Given the description of an element on the screen output the (x, y) to click on. 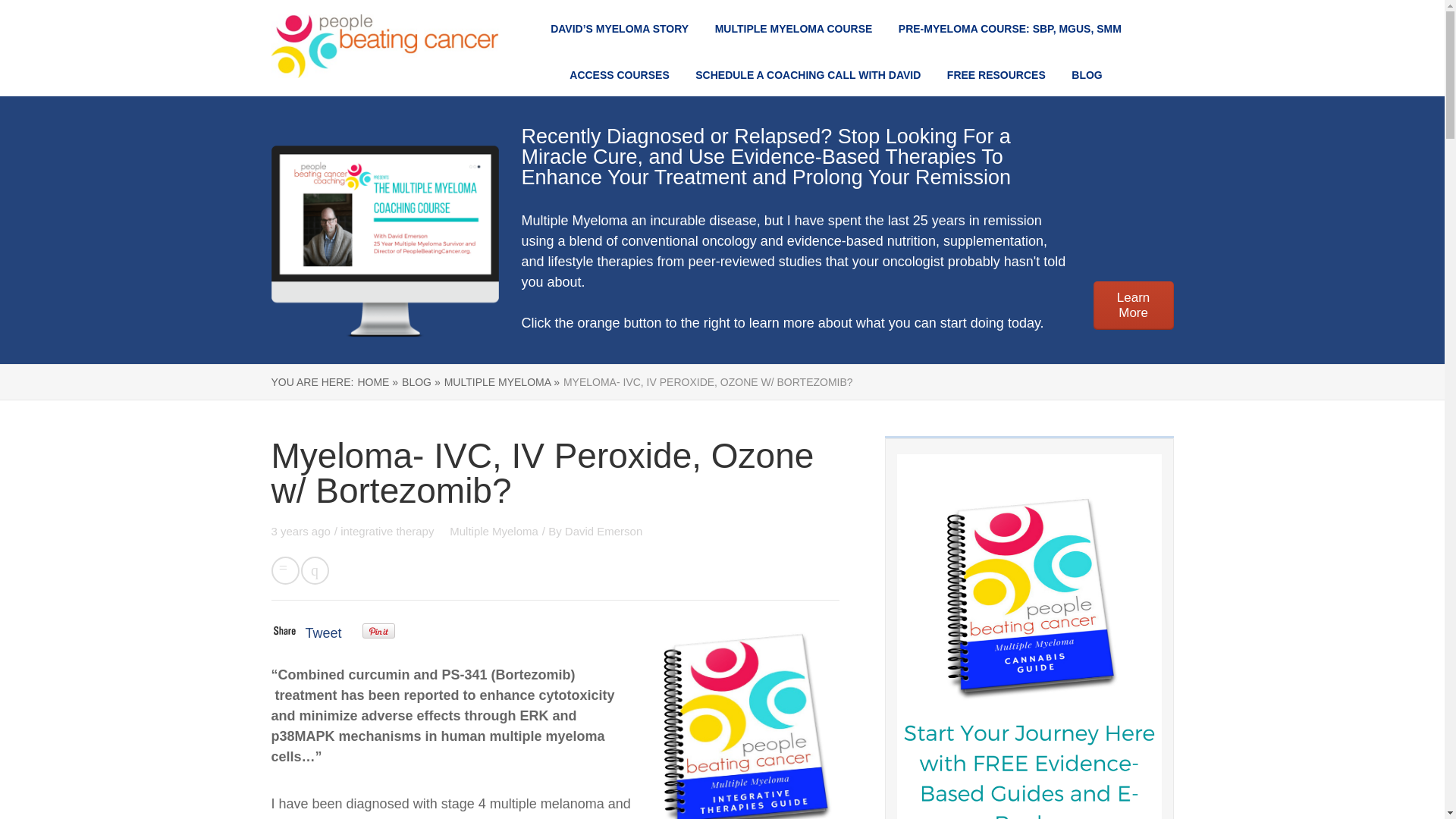
MM Integrative (744, 717)
Pin It (378, 631)
integrative therapy (388, 530)
David Emerson (603, 530)
FREE RESOURCES (996, 74)
MULTIPLE MYELOMA COURSE (793, 28)
SCHEDULE A COACHING CALL WITH DAVID (807, 74)
Tweet (322, 632)
Multiple Myeloma (493, 530)
Learn More (1133, 305)
ACCESS COURSES (618, 74)
BLOG (1086, 74)
PRE-MYELOMA COURSE: SBP, MGUS, SMM (1009, 28)
